Given the description of an element on the screen output the (x, y) to click on. 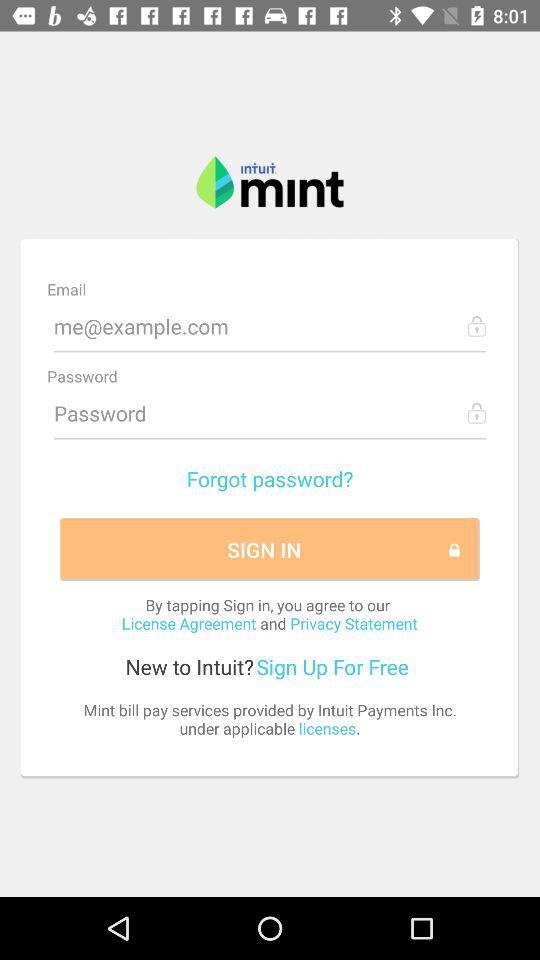
tipe password (270, 413)
